Given the description of an element on the screen output the (x, y) to click on. 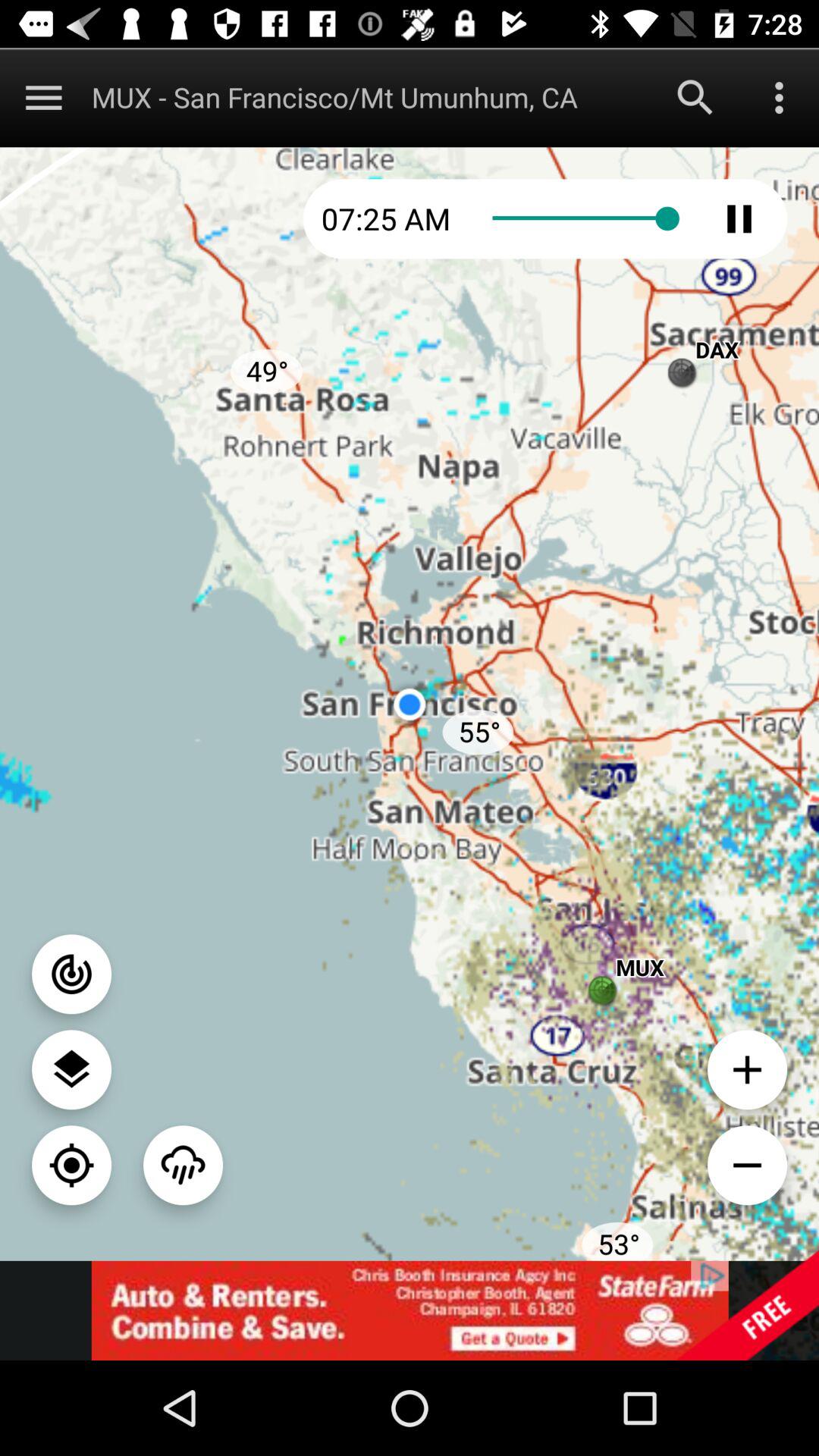
go to zoom (71, 1165)
